Given the description of an element on the screen output the (x, y) to click on. 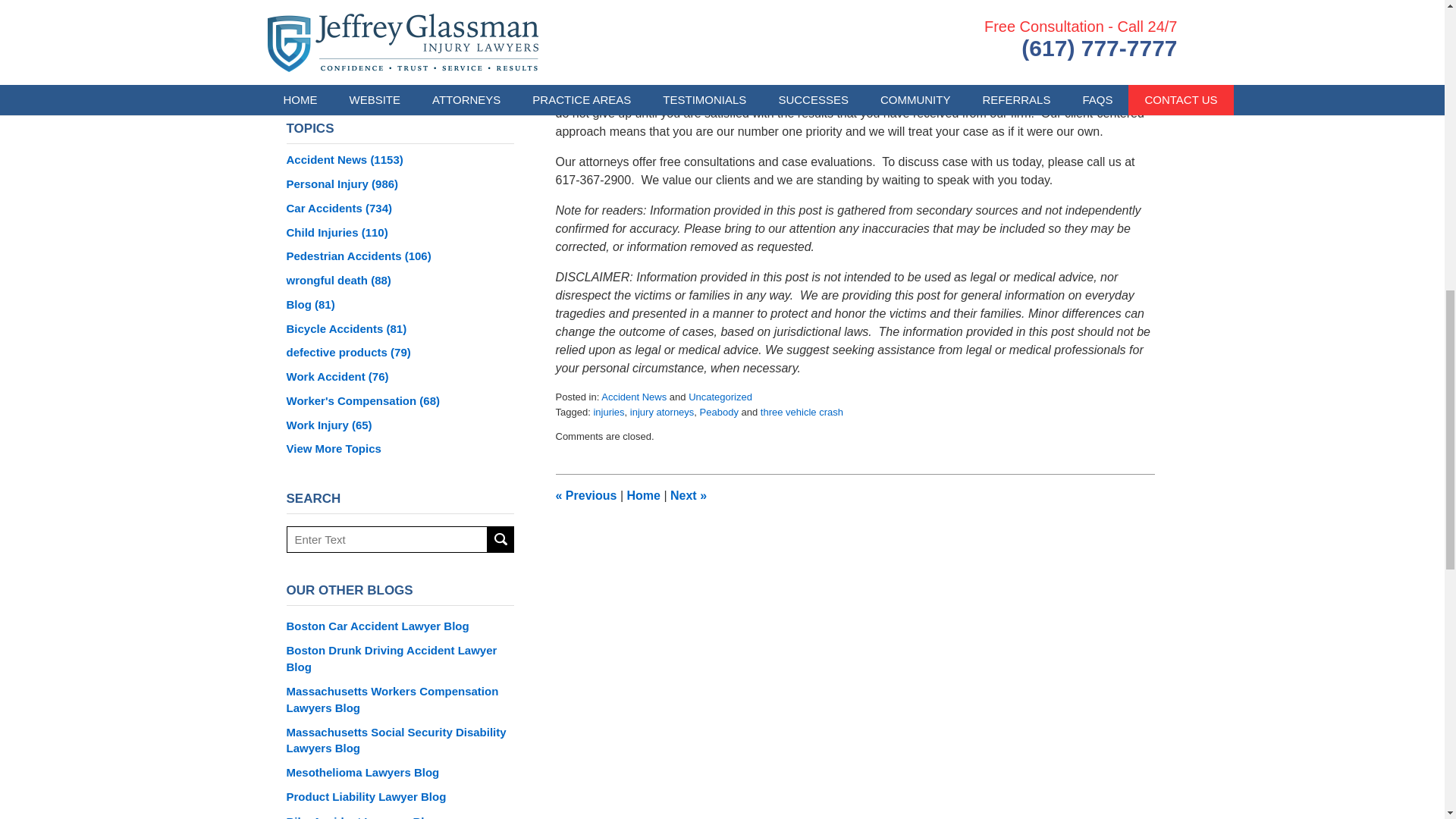
Facebook (341, 73)
injury atorneys (662, 411)
Justia (418, 73)
Jeffrey Glassman Injury Lawyers (682, 10)
Feed (458, 73)
Uncategorized (720, 396)
View all posts in Uncategorized (720, 396)
Peabody (719, 411)
three vehicle crash (801, 411)
View all posts in Accident News (633, 396)
Accident News (633, 396)
View all posts tagged with three vehicle crash (801, 411)
injuries (608, 411)
Twitter (379, 73)
View all posts tagged with Peabody (719, 411)
